Given the description of an element on the screen output the (x, y) to click on. 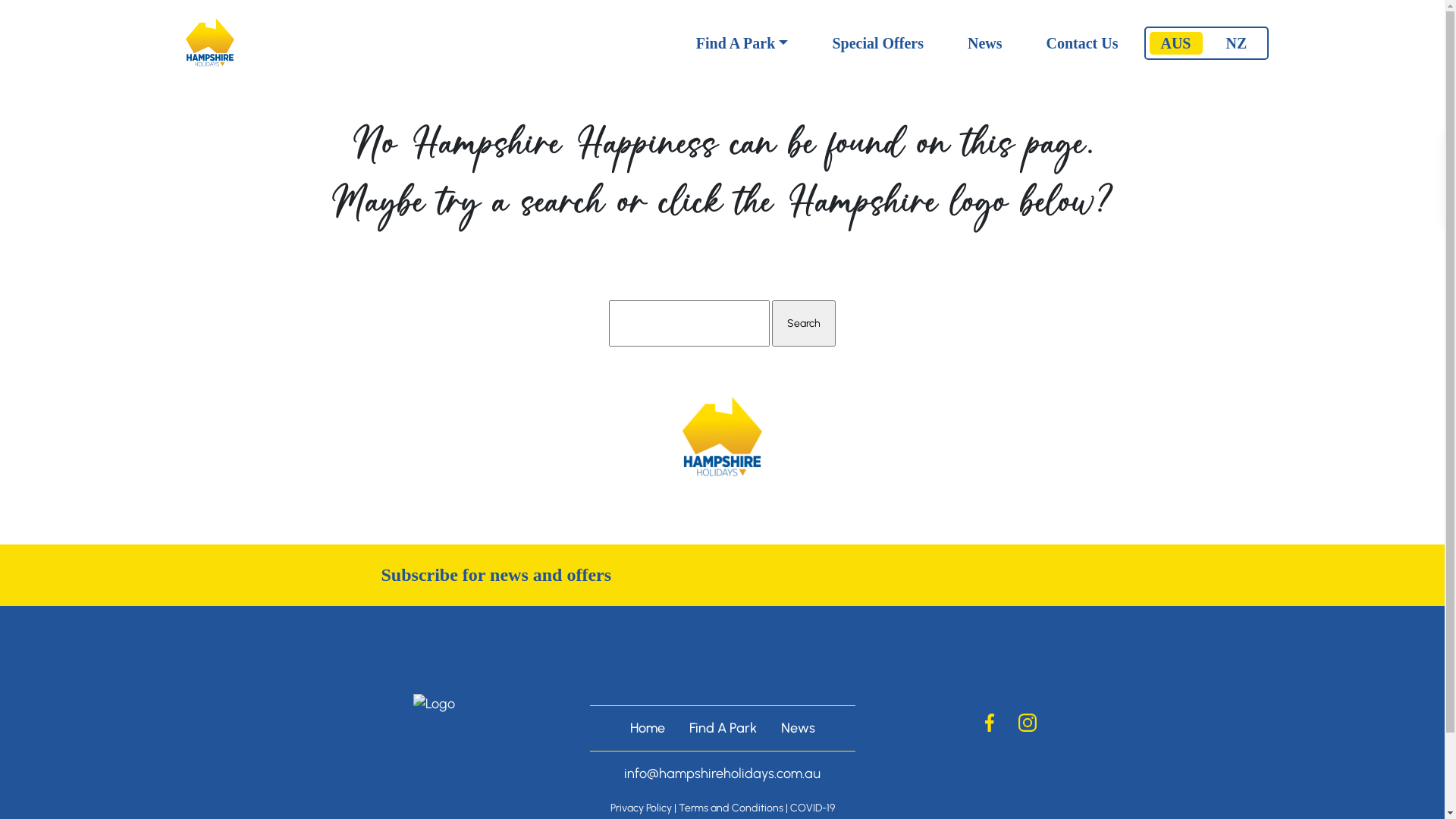
Search Element type: text (803, 323)
News Element type: text (798, 727)
| COVID-19 Element type: text (809, 807)
Home Element type: text (646, 727)
Find A Park Element type: text (742, 42)
info@hampshireholidays.com.au Element type: text (722, 773)
Privacy Policy Element type: text (640, 807)
Terms and Conditions Element type: text (729, 807)
News Element type: text (984, 42)
Find A Park Element type: text (722, 727)
Special Offers Element type: text (877, 42)
AUS
NZ Element type: text (1206, 42)
Contact Us Element type: text (1082, 42)
